Given the description of an element on the screen output the (x, y) to click on. 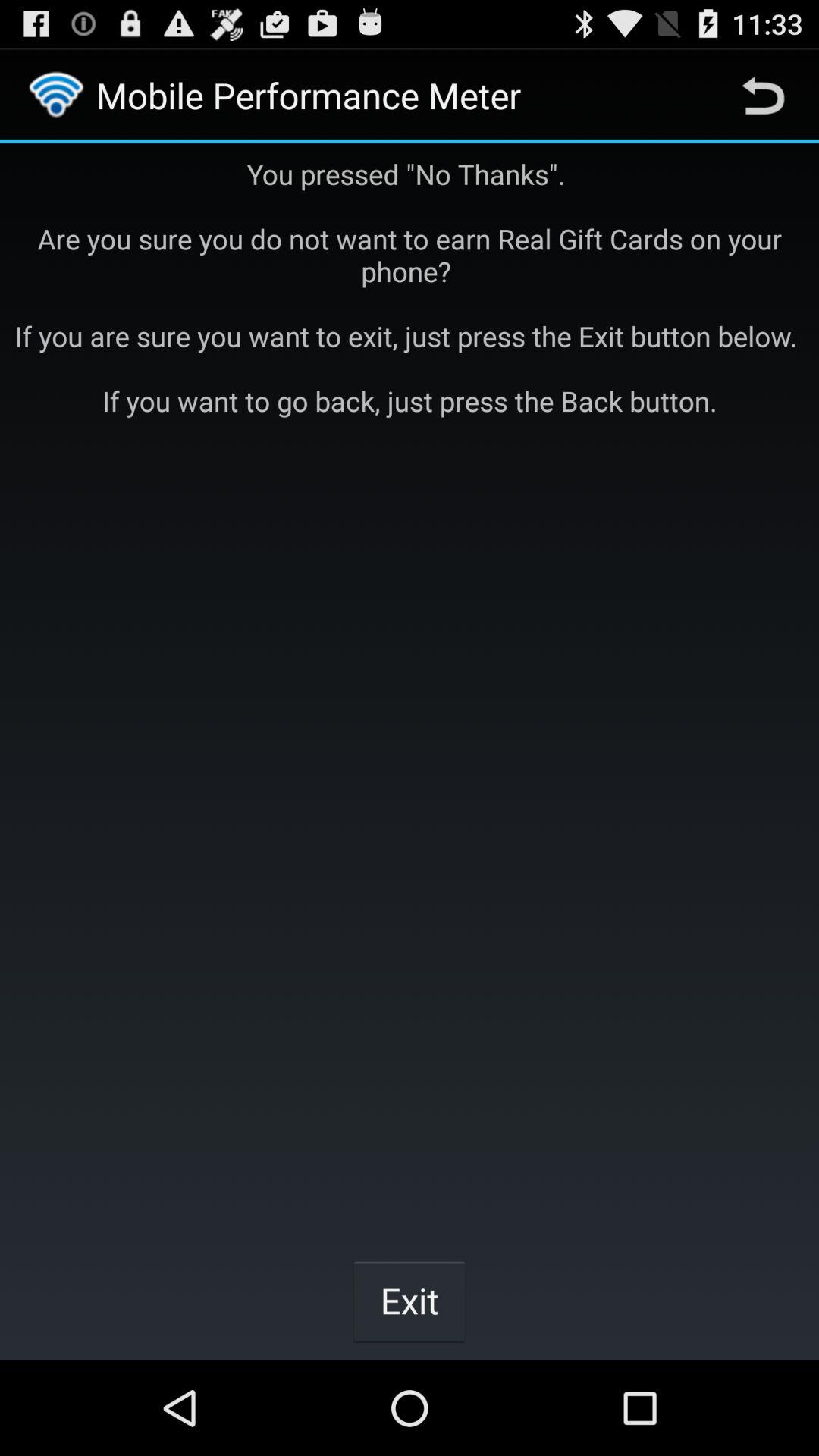
open the icon at the top right corner (763, 95)
